Given the description of an element on the screen output the (x, y) to click on. 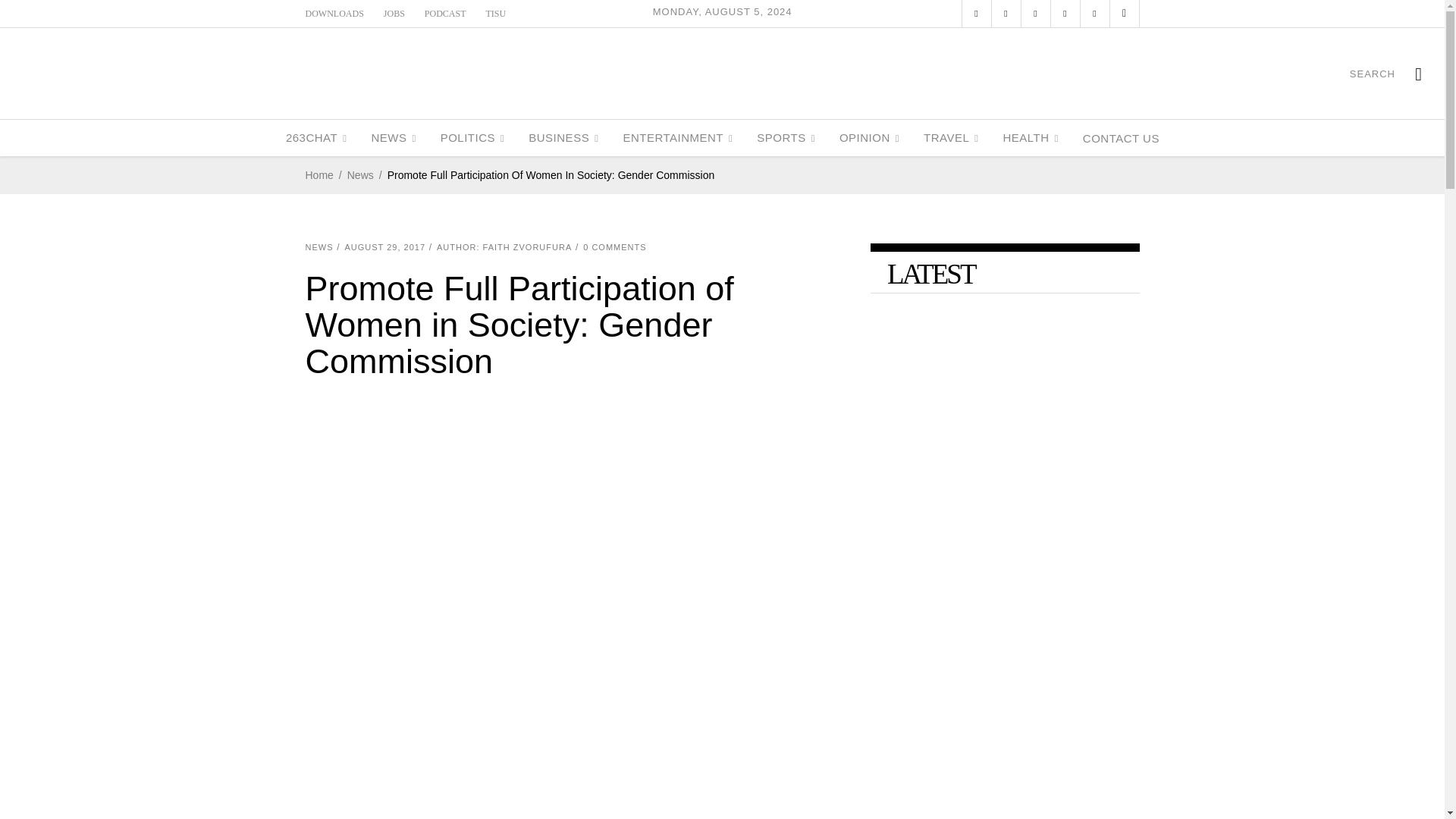
TISU (496, 13)
NEWS (393, 137)
263CHAT (316, 137)
PODCAST (445, 13)
DOWNLOADS (333, 13)
JOBS (394, 13)
POLITICS (472, 137)
